Given the description of an element on the screen output the (x, y) to click on. 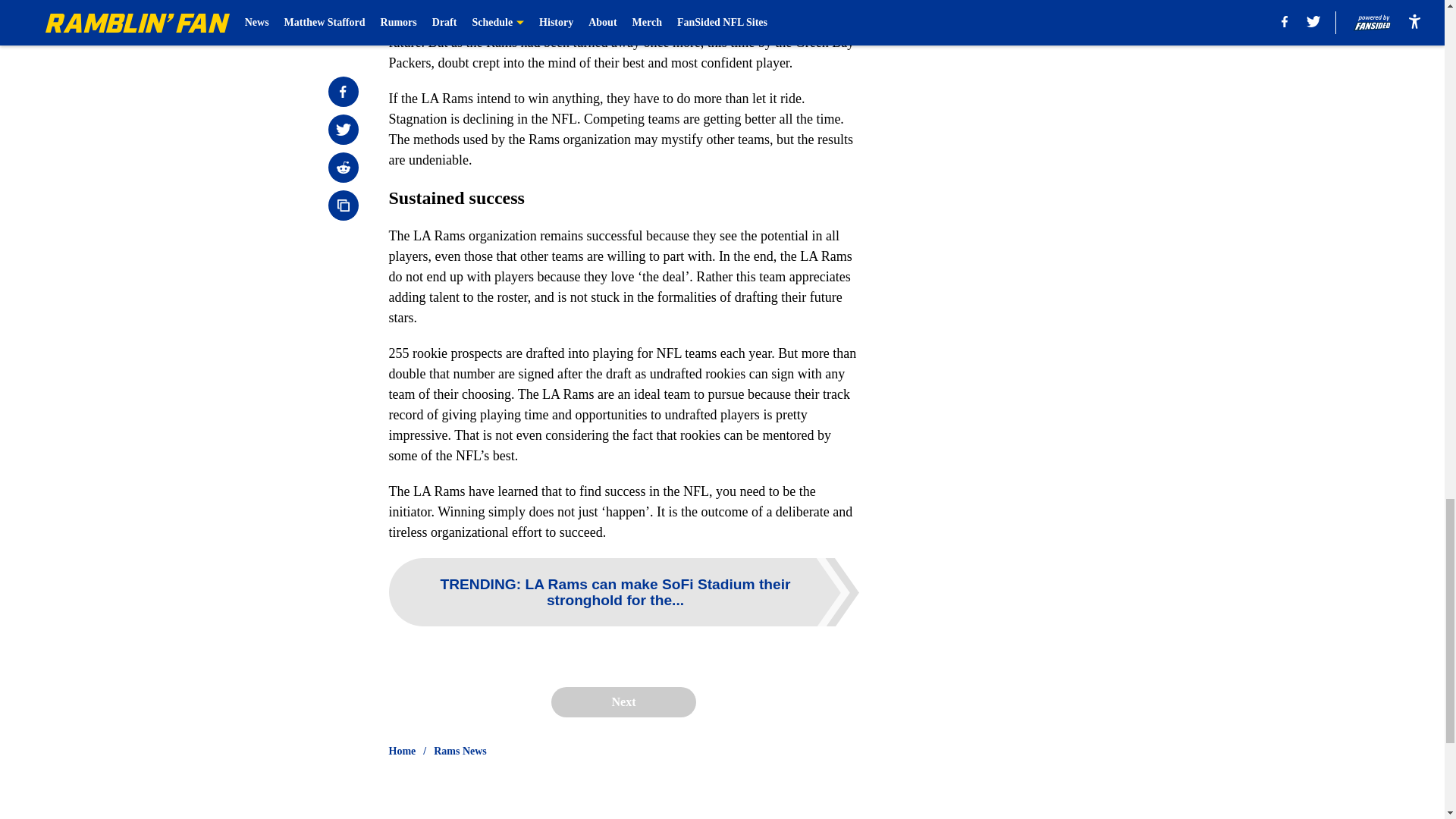
Rams News (459, 751)
Home (401, 751)
Next (622, 702)
